Given the description of an element on the screen output the (x, y) to click on. 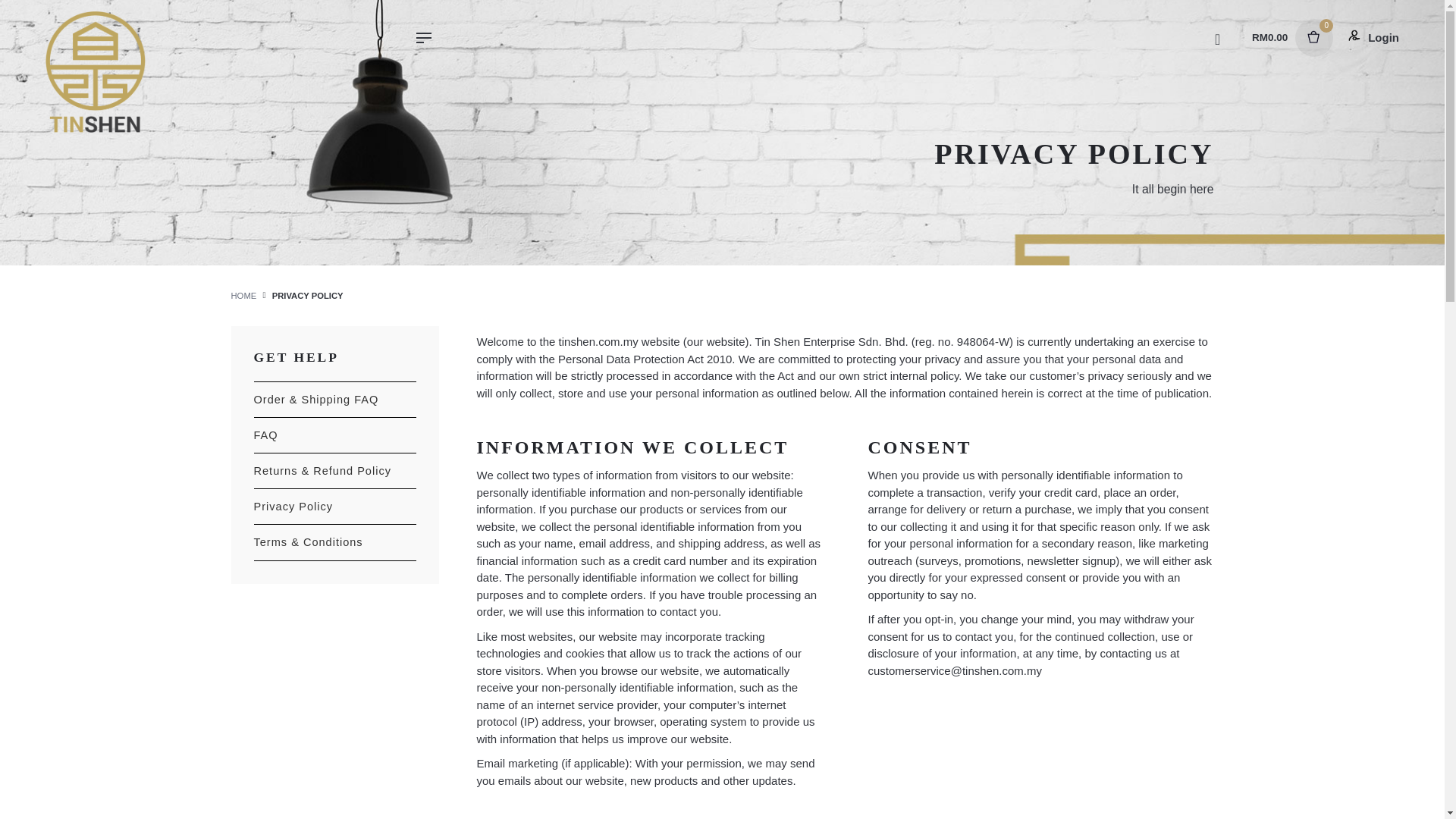
0 (1310, 37)
RM0.00 (1269, 37)
